Given the description of an element on the screen output the (x, y) to click on. 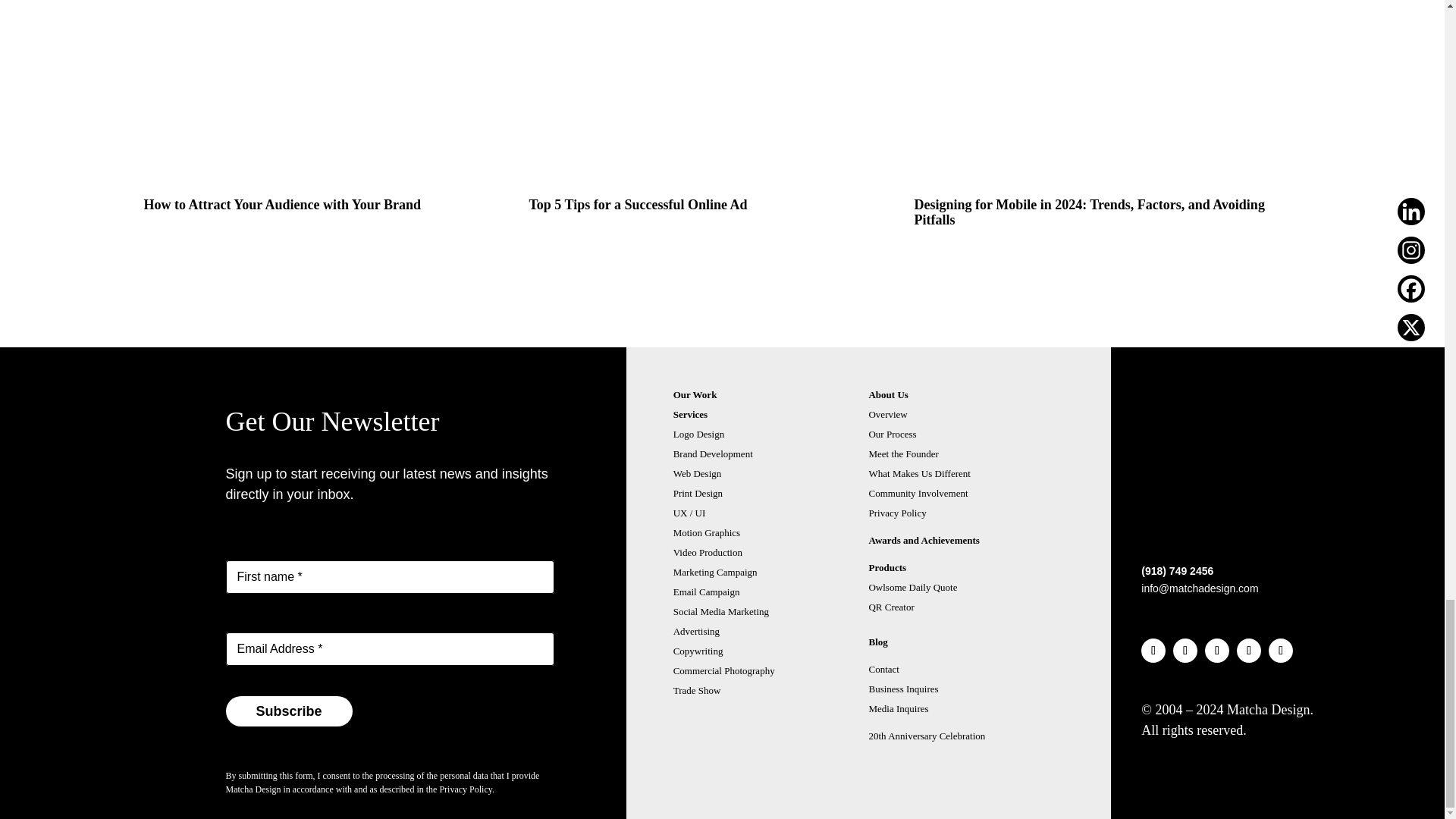
Follow on Facebook (1216, 650)
Follow on Instagram (1184, 650)
Matcha Design Logo white (1166, 527)
Subscribe (288, 711)
First name (389, 576)
Follow on LinkedIn (1153, 650)
Email Address (389, 648)
